Given the description of an element on the screen output the (x, y) to click on. 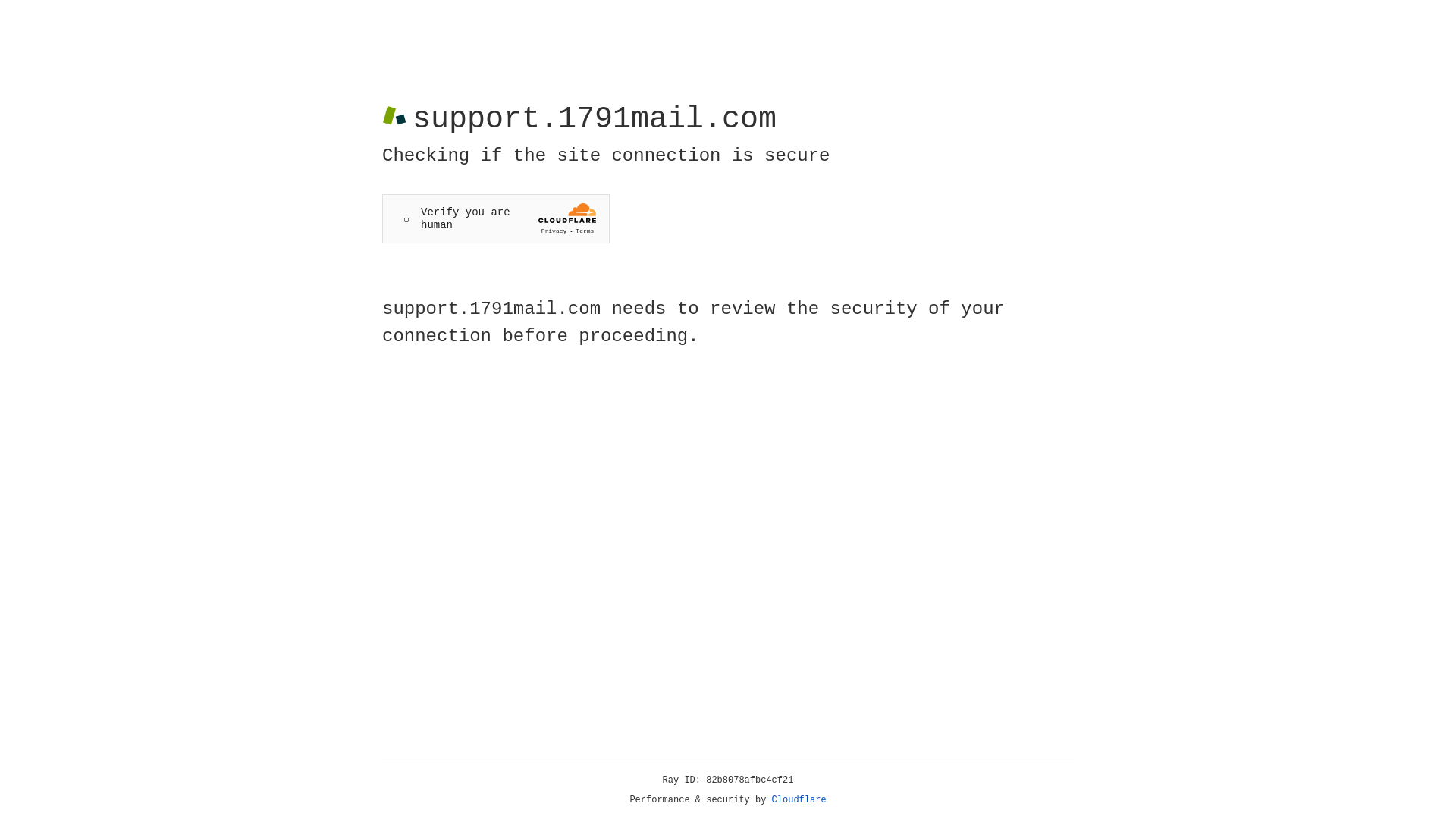
Cloudflare Element type: text (798, 799)
Widget containing a Cloudflare security challenge Element type: hover (495, 218)
